Given the description of an element on the screen output the (x, y) to click on. 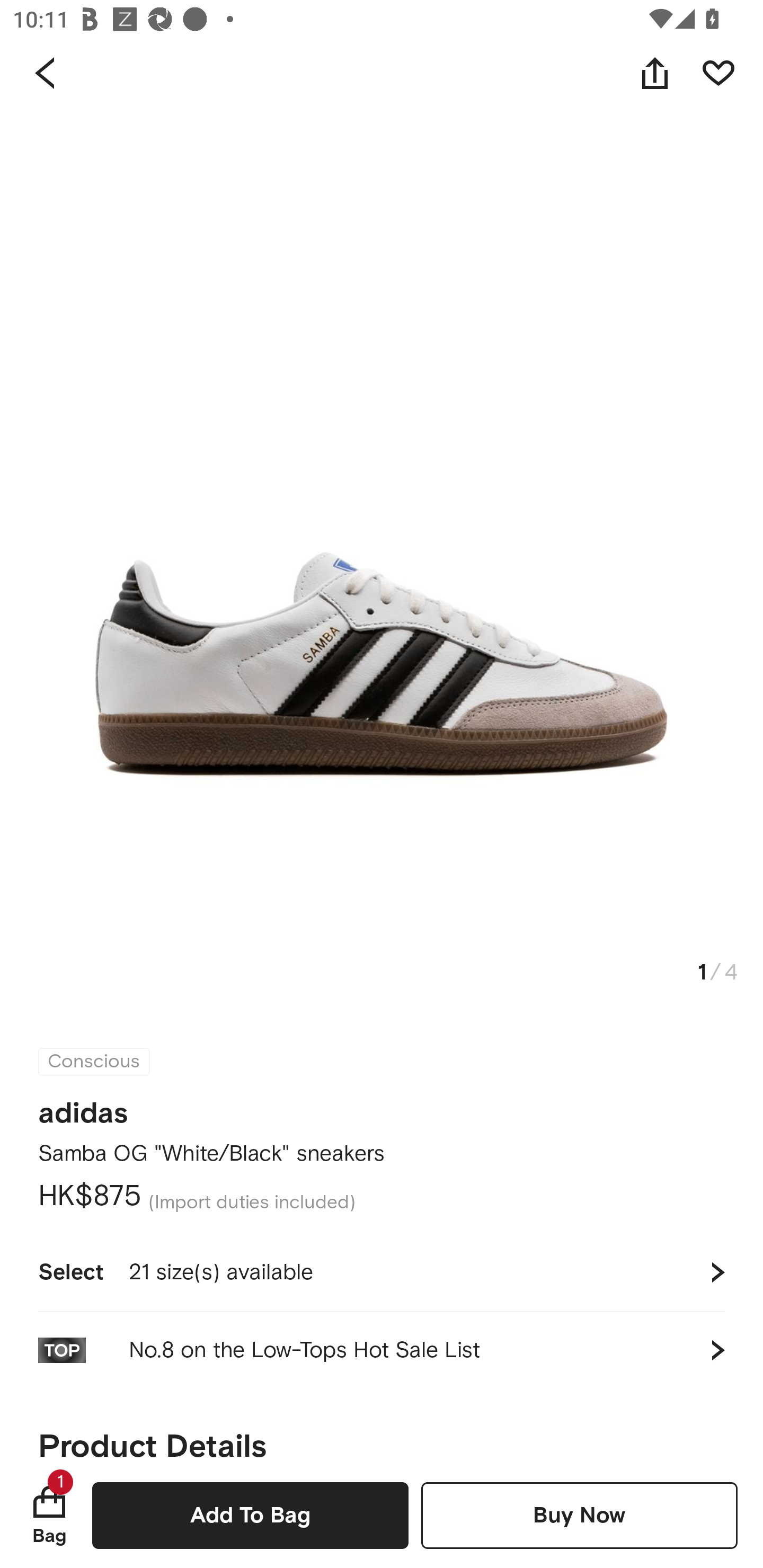
adidas (83, 1107)
Select 21 size(s) available (381, 1272)
No.8 on the Low-Tops Hot Sale List (381, 1349)
Bag 1 (49, 1515)
Add To Bag (250, 1515)
Buy Now (579, 1515)
